Given the description of an element on the screen output the (x, y) to click on. 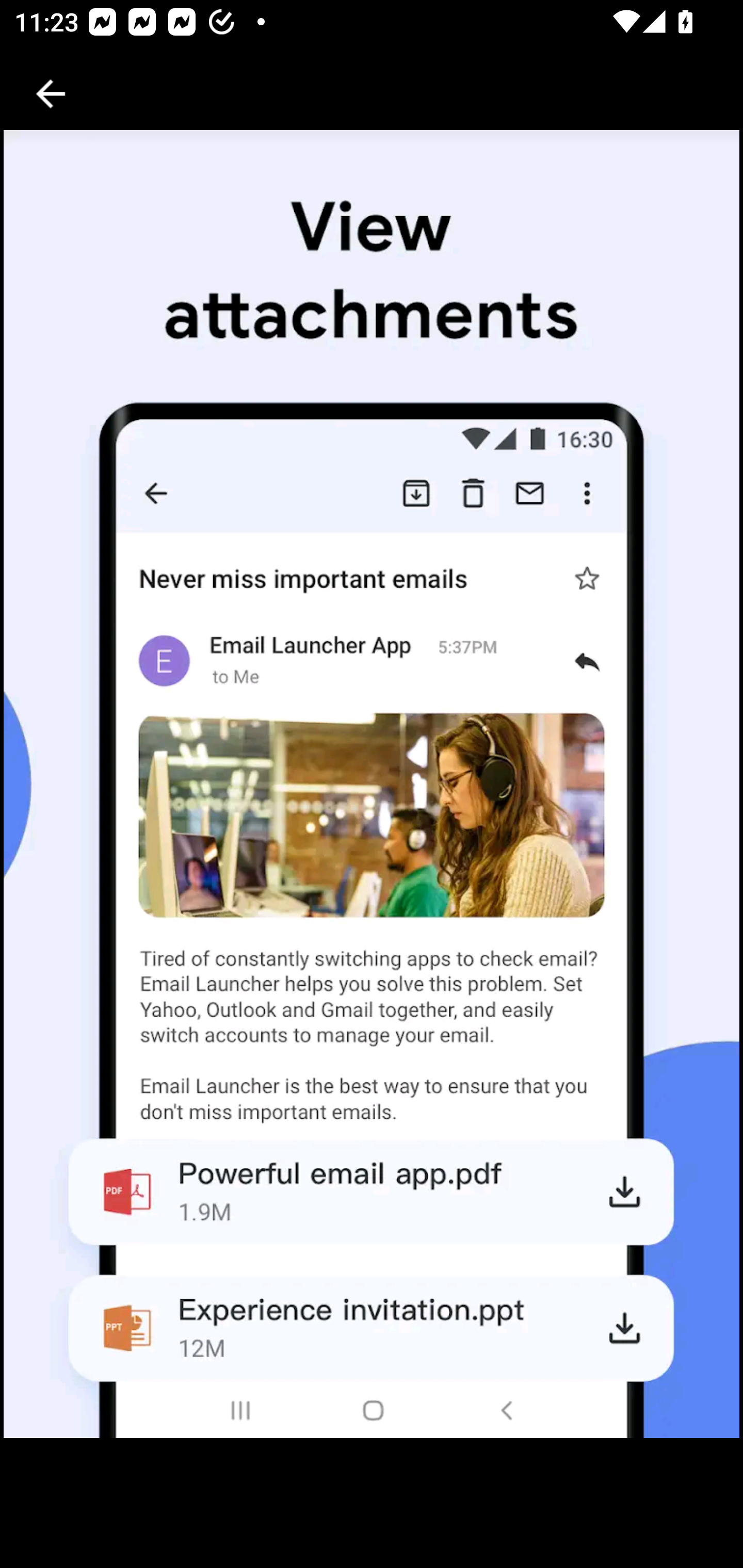
Back (50, 93)
